Given the description of an element on the screen output the (x, y) to click on. 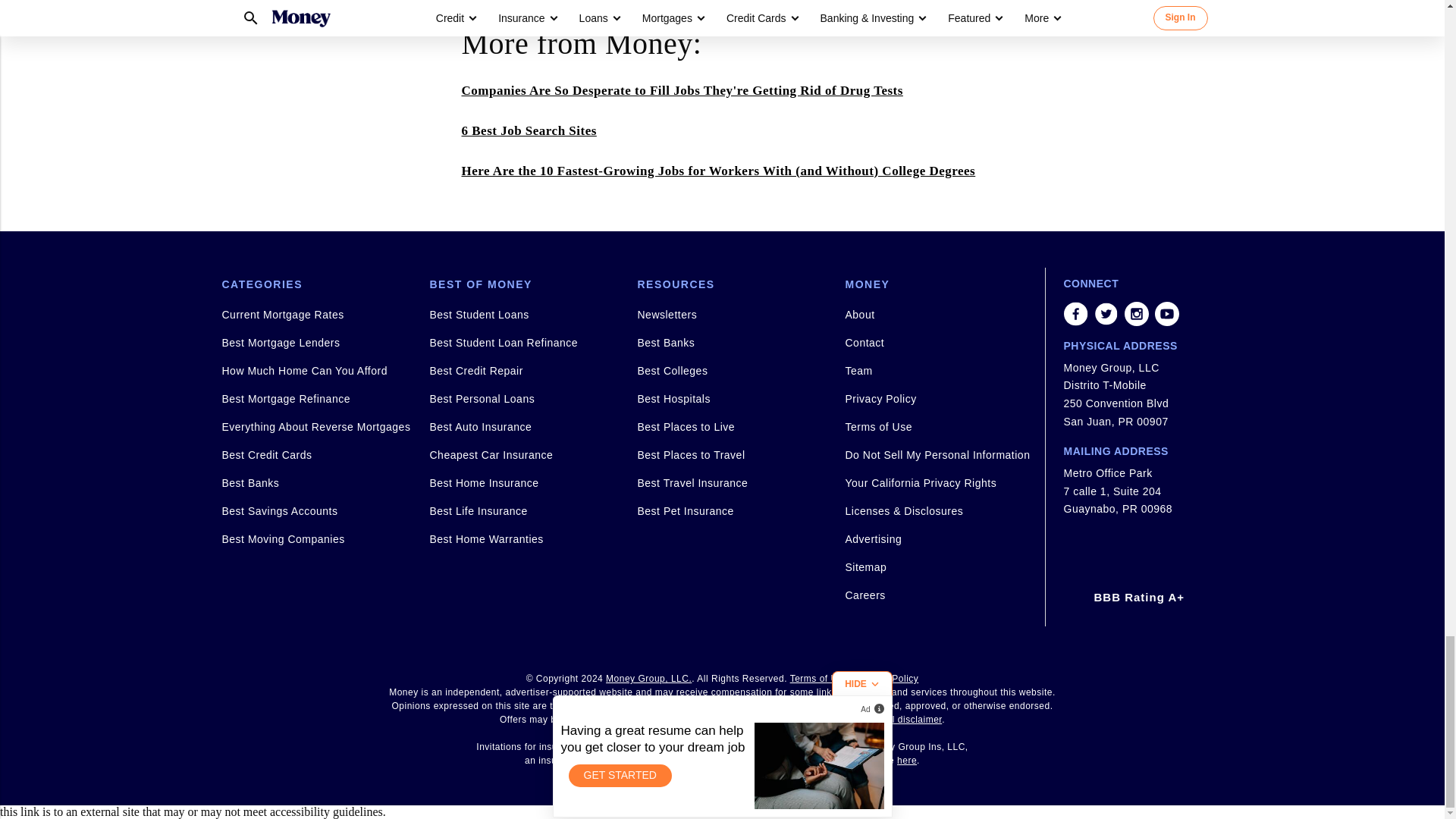
youtube share (1165, 313)
twitter share (1105, 313)
facebook share (1074, 313)
instagram share (1136, 313)
